Given the description of an element on the screen output the (x, y) to click on. 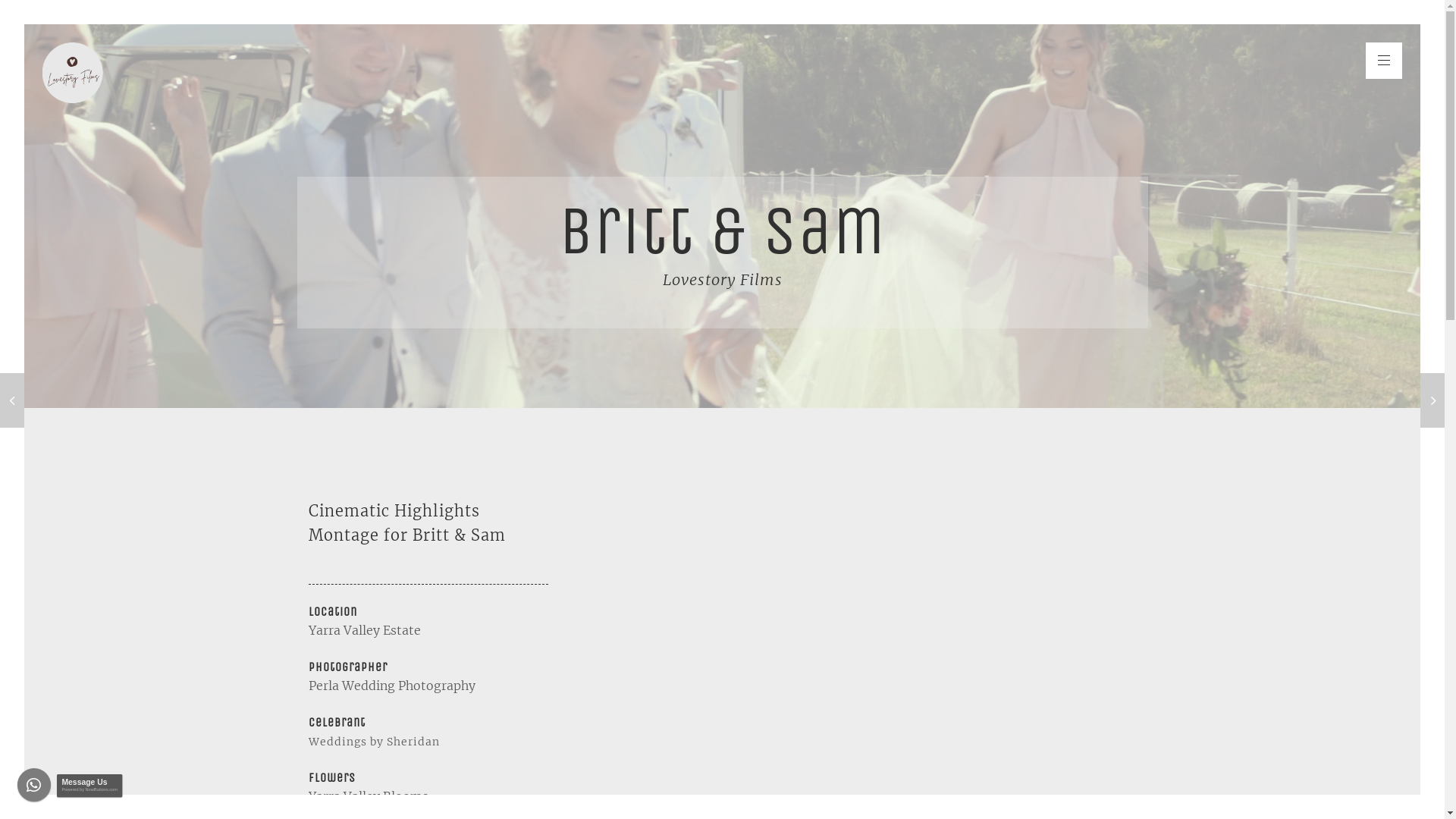
LoveStory Films Element type: hover (72, 72)
Yarra Valley Estate  Element type: text (365, 629)
Perla Wedding Photography Element type: text (390, 685)
Weddings by Sheridan Element type: text (373, 740)
Search Element type: text (25, 9)
whatsapp Element type: text (38, 788)
Yarra Valley Blooms Element type: text (367, 795)
